Given the description of an element on the screen output the (x, y) to click on. 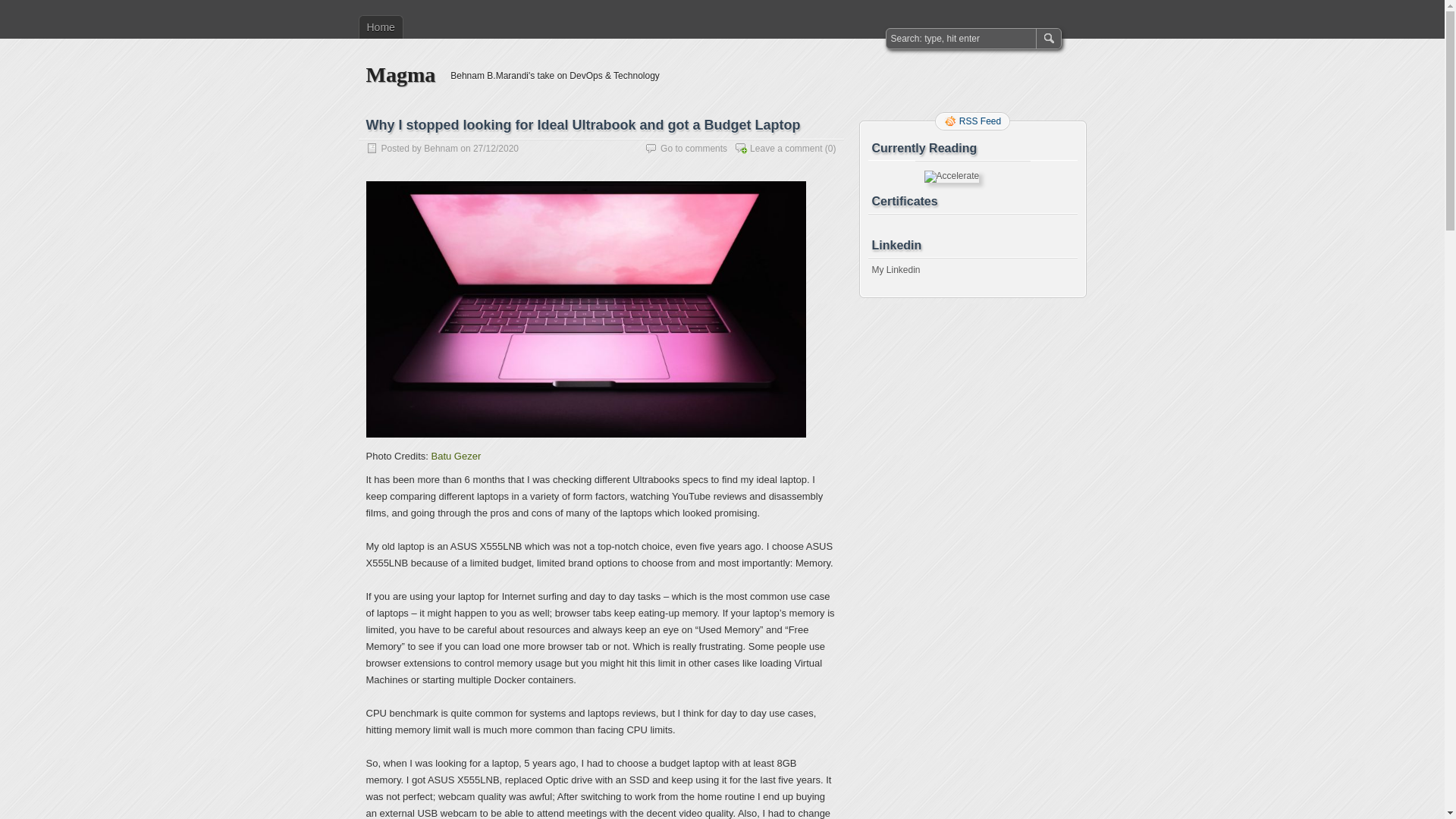
My Linkedin Element type: text (896, 269)
Go to comments Element type: text (693, 148)
RSS Feed Element type: text (972, 120)
Home Element type: text (379, 26)
Magma Element type: text (400, 74)
Behnam Element type: text (440, 148)
Batu Gezer Element type: text (455, 455)
Leave a comment Element type: text (785, 148)
SEARCH Element type: text (1047, 38)
Accelerate Element type: hover (951, 176)
